Given the description of an element on the screen output the (x, y) to click on. 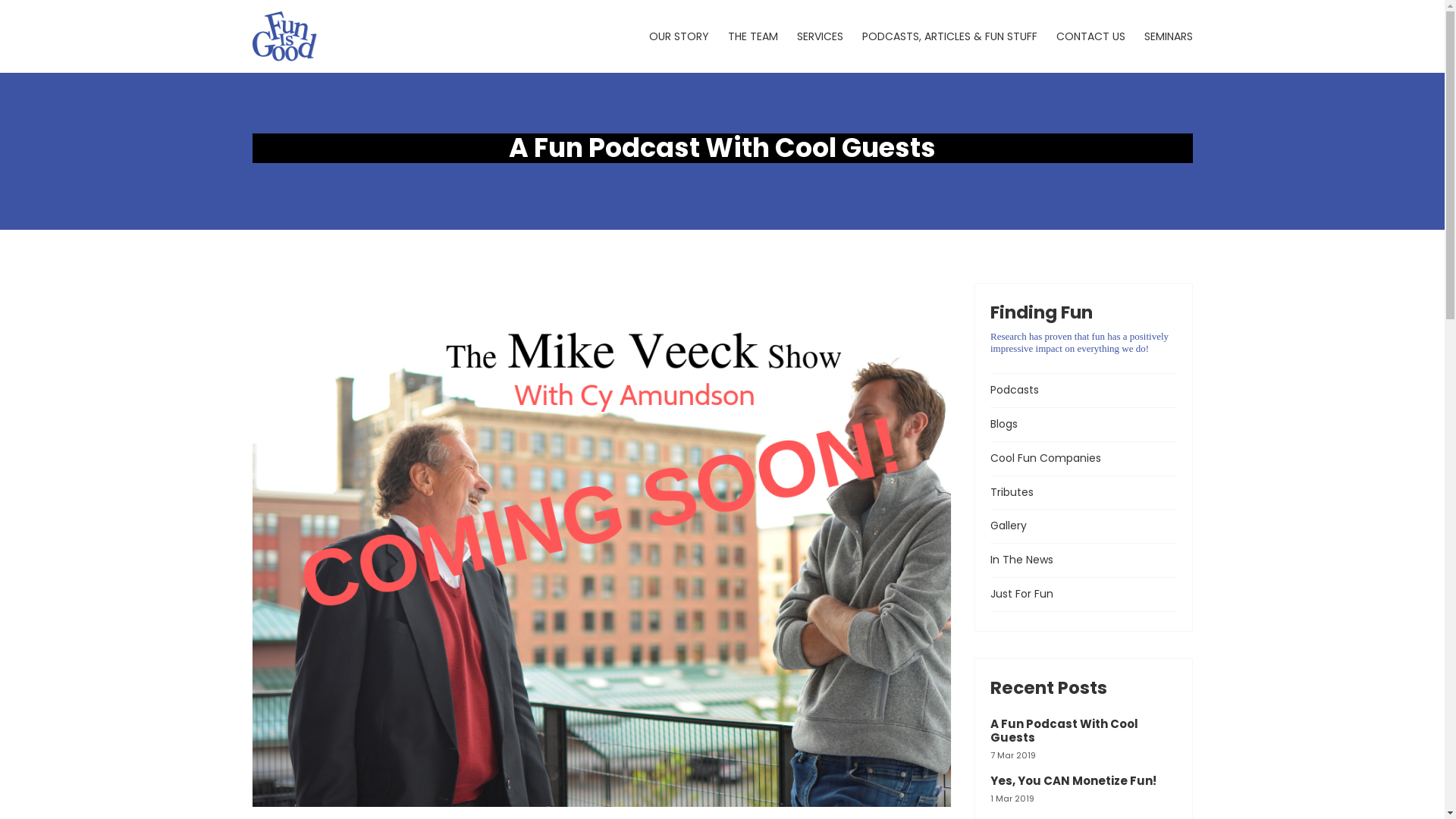
Yes, You CAN Monetize Fun! Element type: text (1073, 780)
OUR STORY Element type: text (679, 36)
SERVICES Element type: text (819, 36)
Tributes Element type: text (1083, 492)
PODCASTS, ARTICLES & FUN STUFF Element type: text (948, 36)
CONTACT US Element type: text (1089, 36)
Cool Fun Companies Element type: text (1083, 458)
In The News Element type: text (1083, 560)
Podcasts Element type: text (1083, 390)
SEMINARS Element type: text (1167, 36)
Gallery Element type: text (1083, 526)
THE TEAM Element type: text (753, 36)
Skip to main content Element type: text (0, 0)
Home Element type: hover (283, 36)
Just For Fun Element type: text (1083, 594)
A Fun Podcast With Cool Guests Element type: text (1064, 730)
Blogs Element type: text (1083, 424)
